Given the description of an element on the screen output the (x, y) to click on. 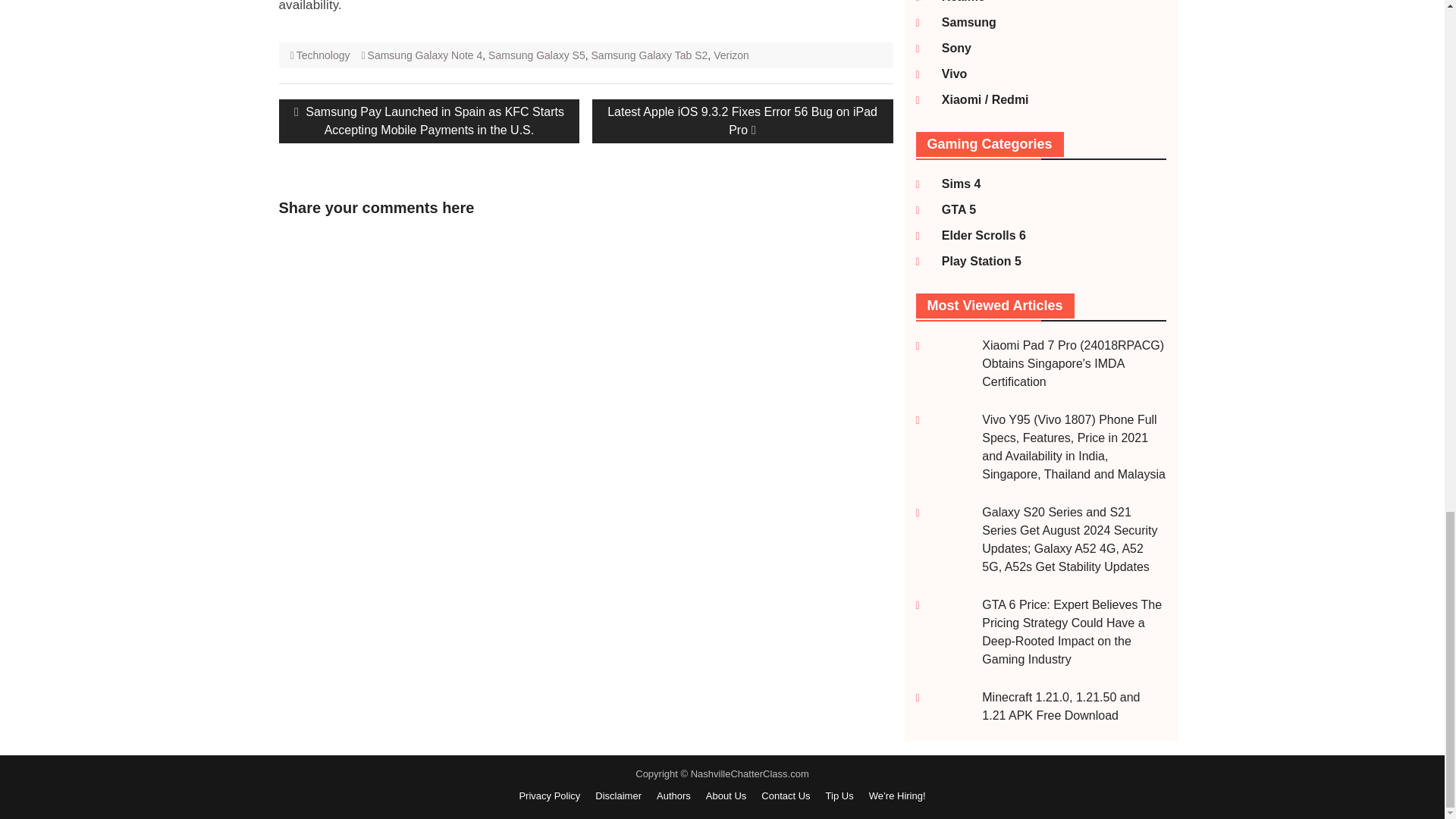
Technology (323, 55)
Minecraft 1.21.0, 1.21.50 and 1.21 APK Free Download (1060, 706)
Verizon (731, 55)
Samsung Galaxy Tab S2 (649, 55)
Samsung Galaxy Note 4 (425, 55)
Samsung Galaxy S5 (536, 55)
